Given the description of an element on the screen output the (x, y) to click on. 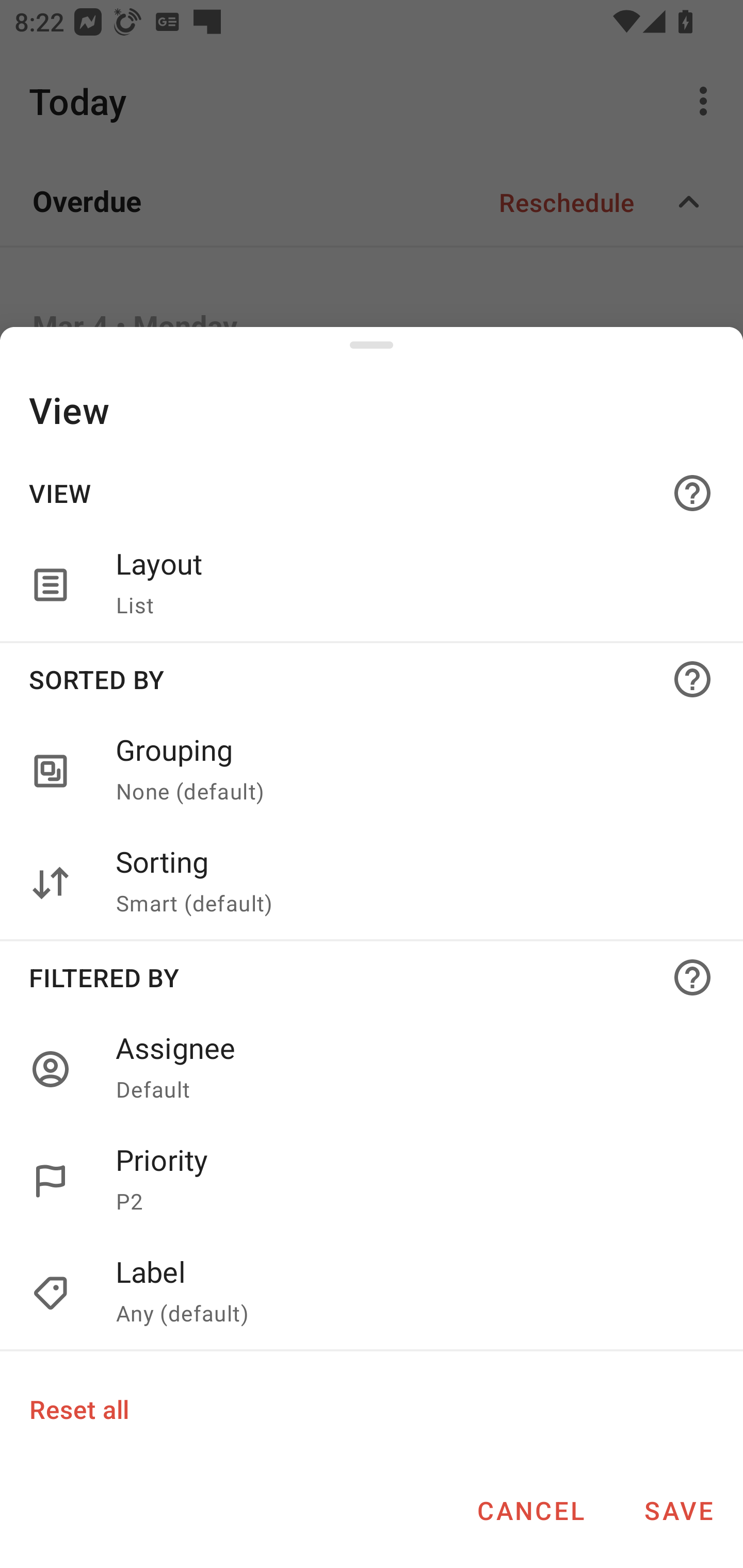
Layout List (371, 585)
Layout List (407, 585)
SORTED BY (371, 678)
Grouping None (default) (371, 771)
Grouping None (default) (407, 771)
Sorting Smart (default) (371, 883)
Sorting Smart (default) (407, 883)
FILTERED BY (371, 976)
Assignee Default (371, 1068)
Assignee Default (407, 1068)
Priority P2 (371, 1181)
Priority P2 (407, 1181)
Label Any (default) (371, 1293)
Label Any (default) (407, 1293)
Reset all (78, 1408)
CANCEL (530, 1510)
SAVE (678, 1510)
